Given the description of an element on the screen output the (x, y) to click on. 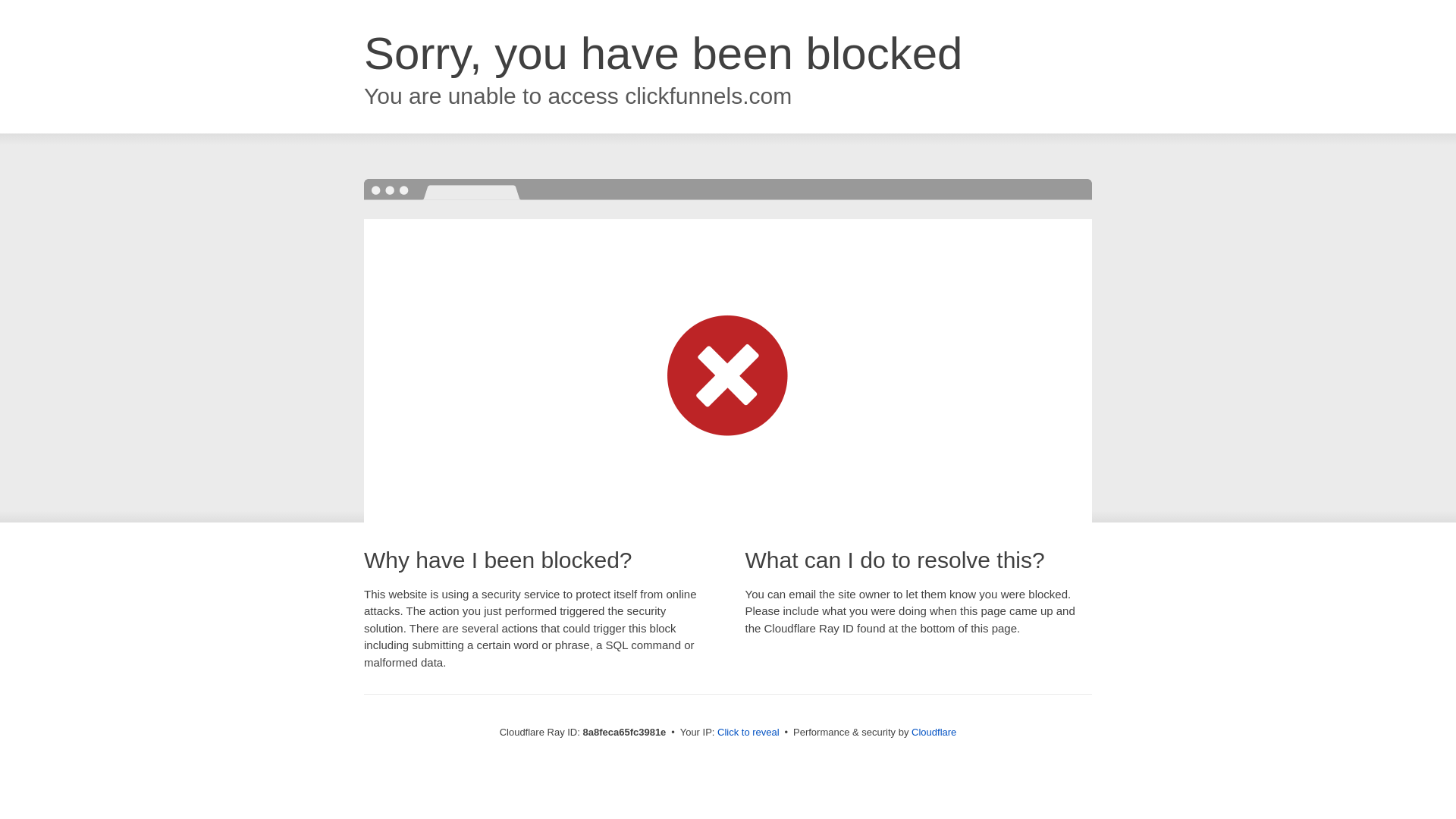
Cloudflare (933, 731)
Click to reveal (747, 732)
